Given the description of an element on the screen output the (x, y) to click on. 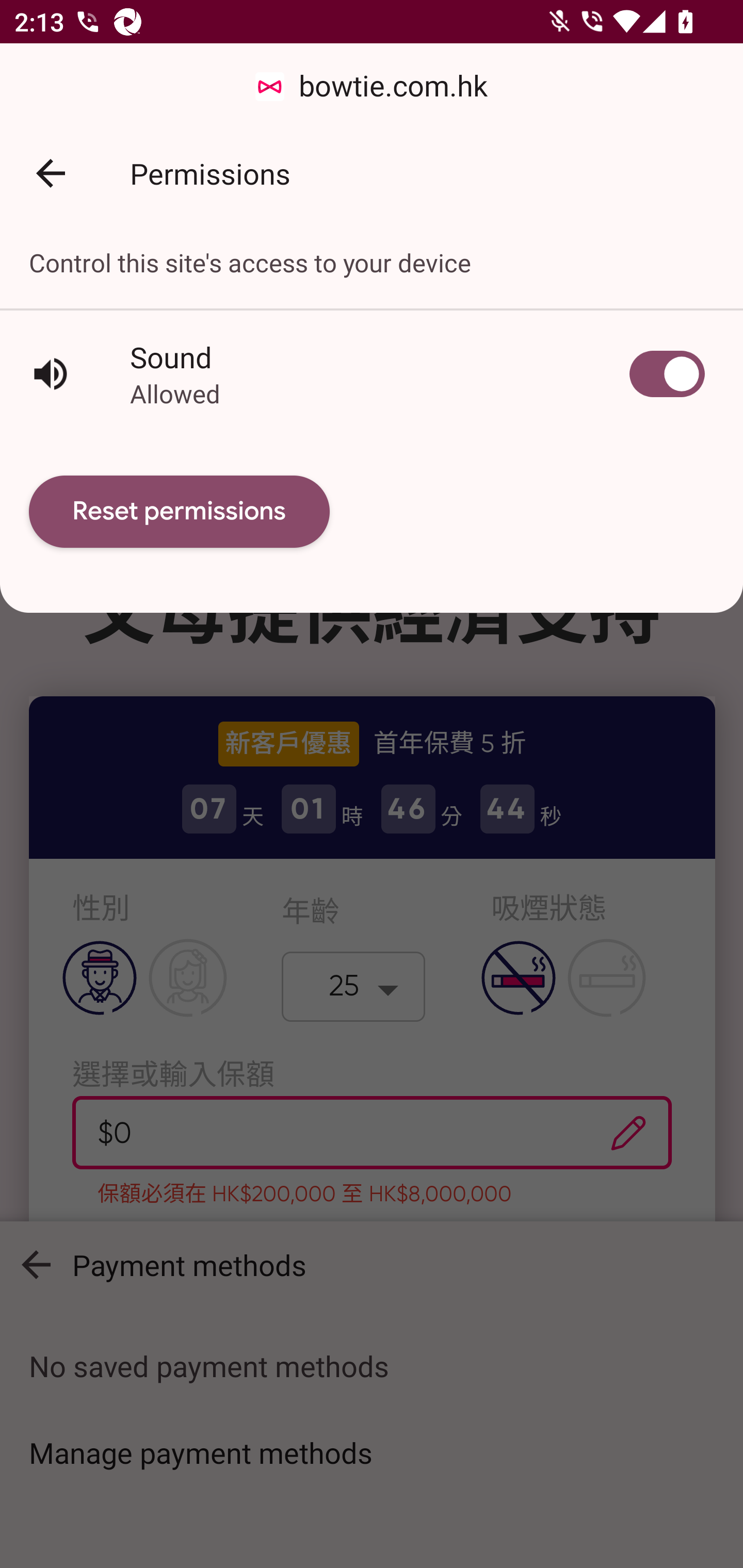
bowtie.com.hk (371, 86)
Back (50, 173)
Sound Allowed (371, 373)
Reset permissions (178, 511)
